Given the description of an element on the screen output the (x, y) to click on. 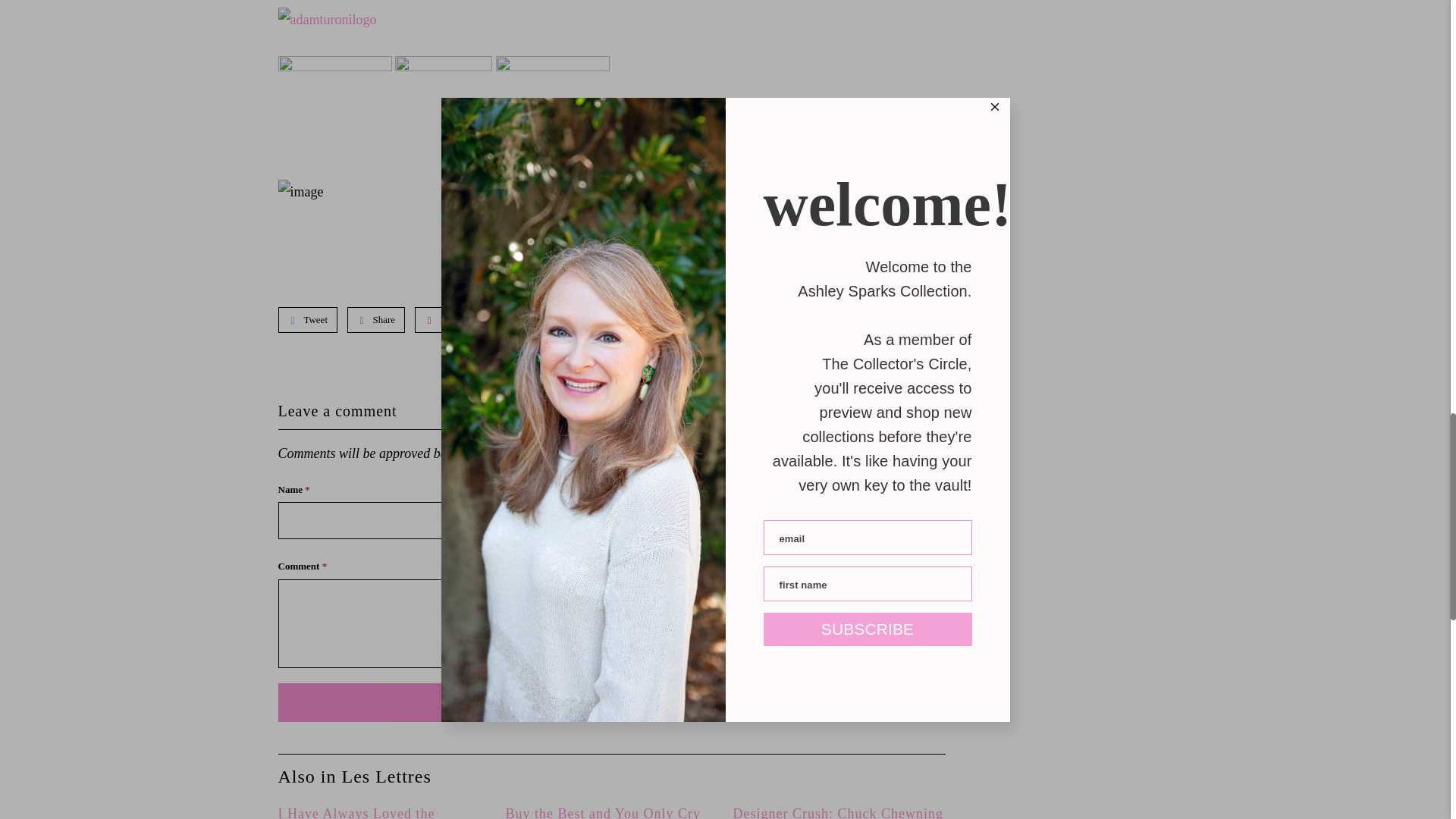
share this on twitter (307, 319)
Share this on Facebook (376, 319)
Post comment (611, 702)
